Given the description of an element on the screen output the (x, y) to click on. 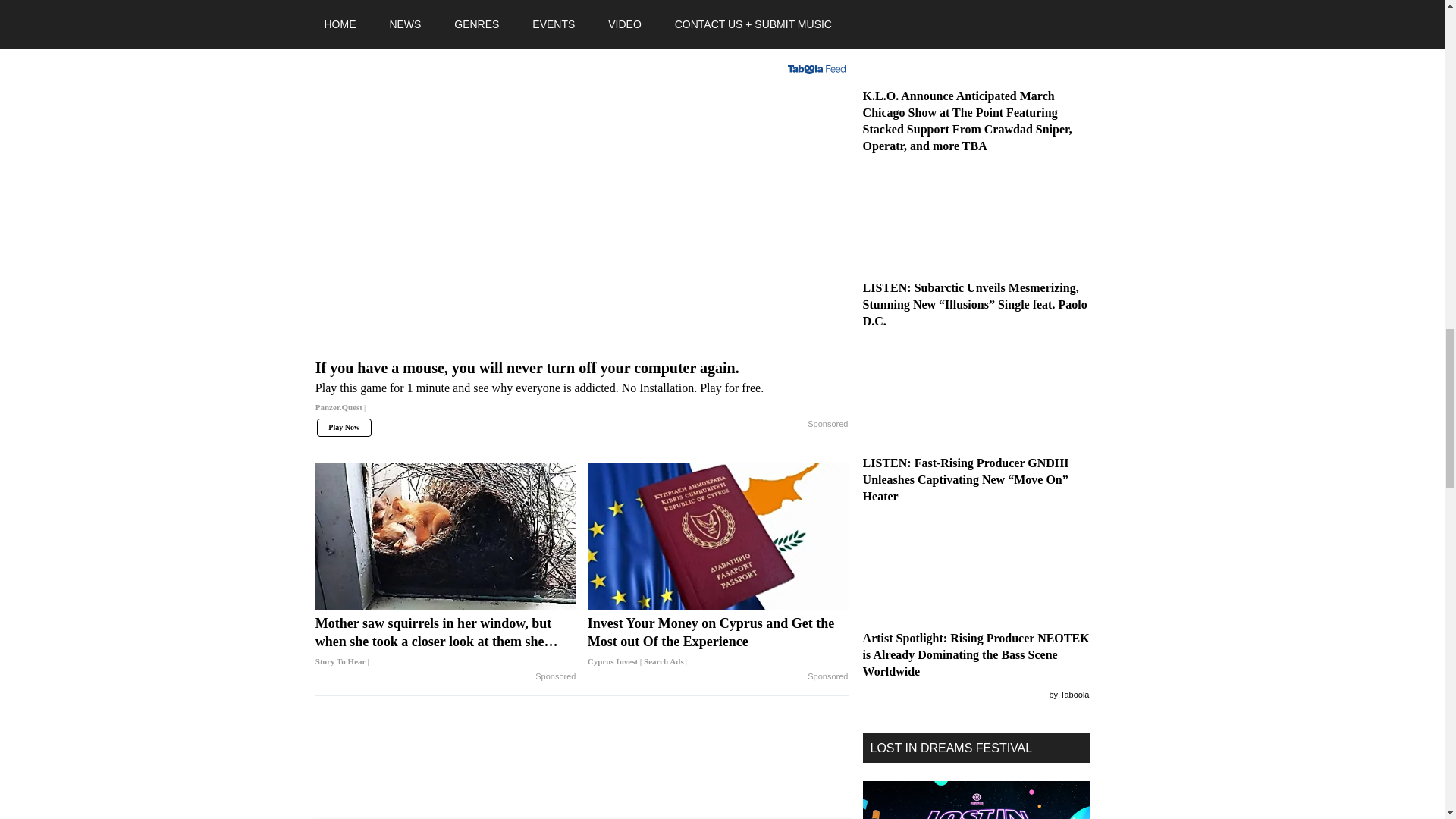
Spotify Embed: AGENDA (582, 19)
Sponsored (827, 424)
Sponsored (555, 676)
Play Now (344, 427)
